Given the description of an element on the screen output the (x, y) to click on. 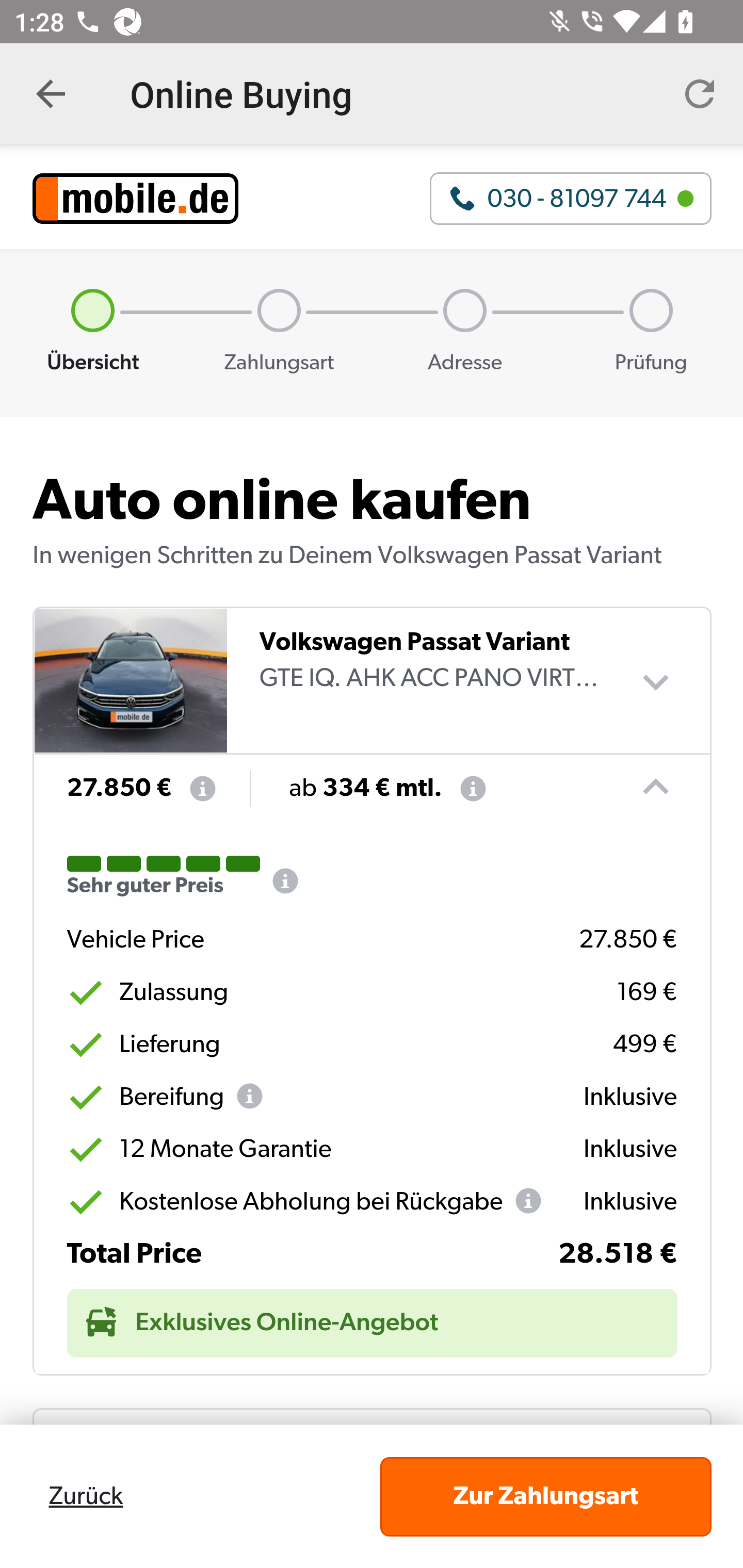
Navigate up (50, 93)
synchronize (699, 93)
030 - 81097 744 (570, 197)
27.850 € ab 334 € mtl. (355, 788)
